Given the description of an element on the screen output the (x, y) to click on. 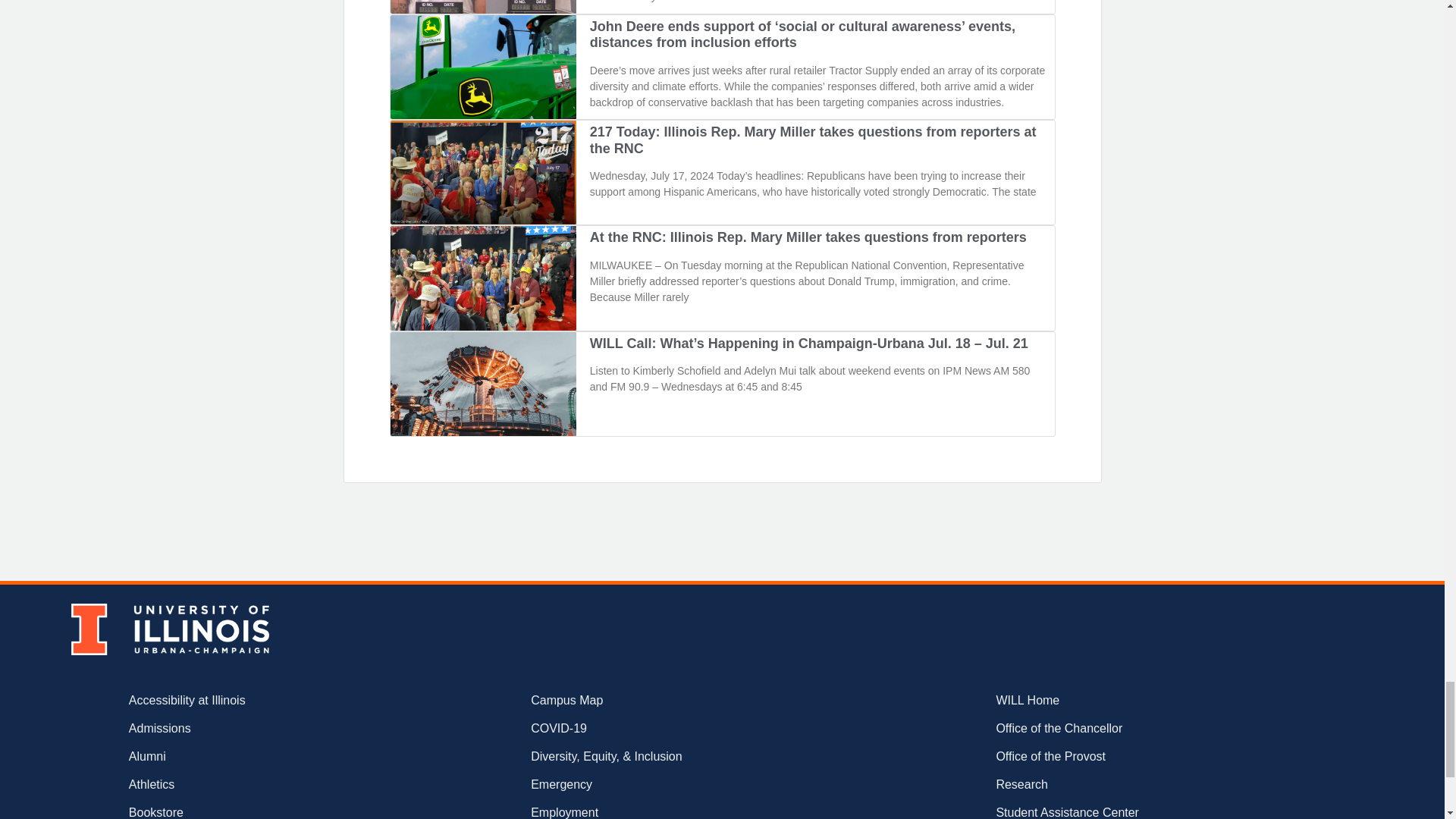
Alumni (235, 756)
Accessibility at Illinois (235, 700)
Admissions (235, 728)
Bookstore (235, 811)
Athletics (235, 784)
